Given the description of an element on the screen output the (x, y) to click on. 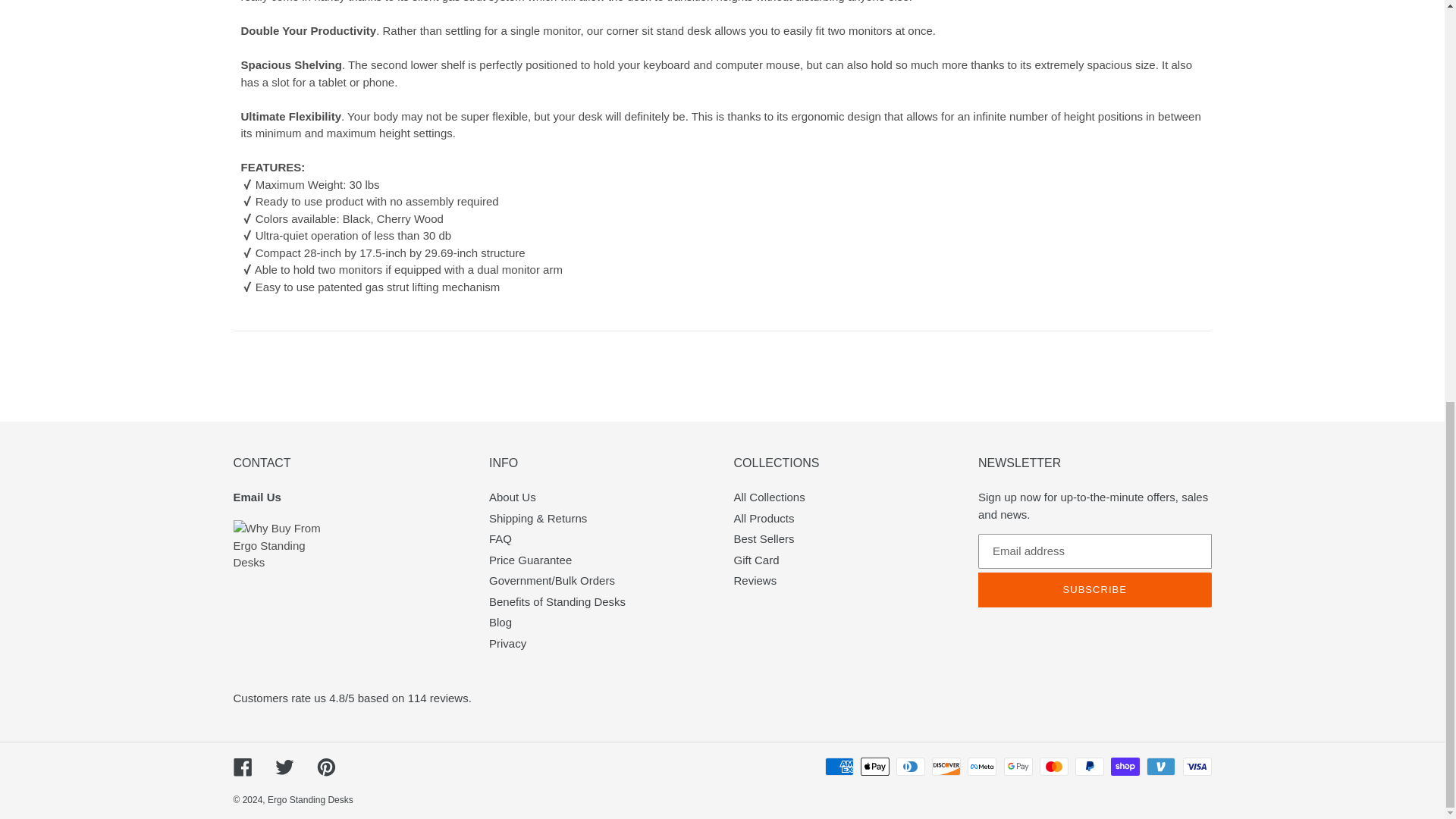
Contact Us (256, 496)
